Given the description of an element on the screen output the (x, y) to click on. 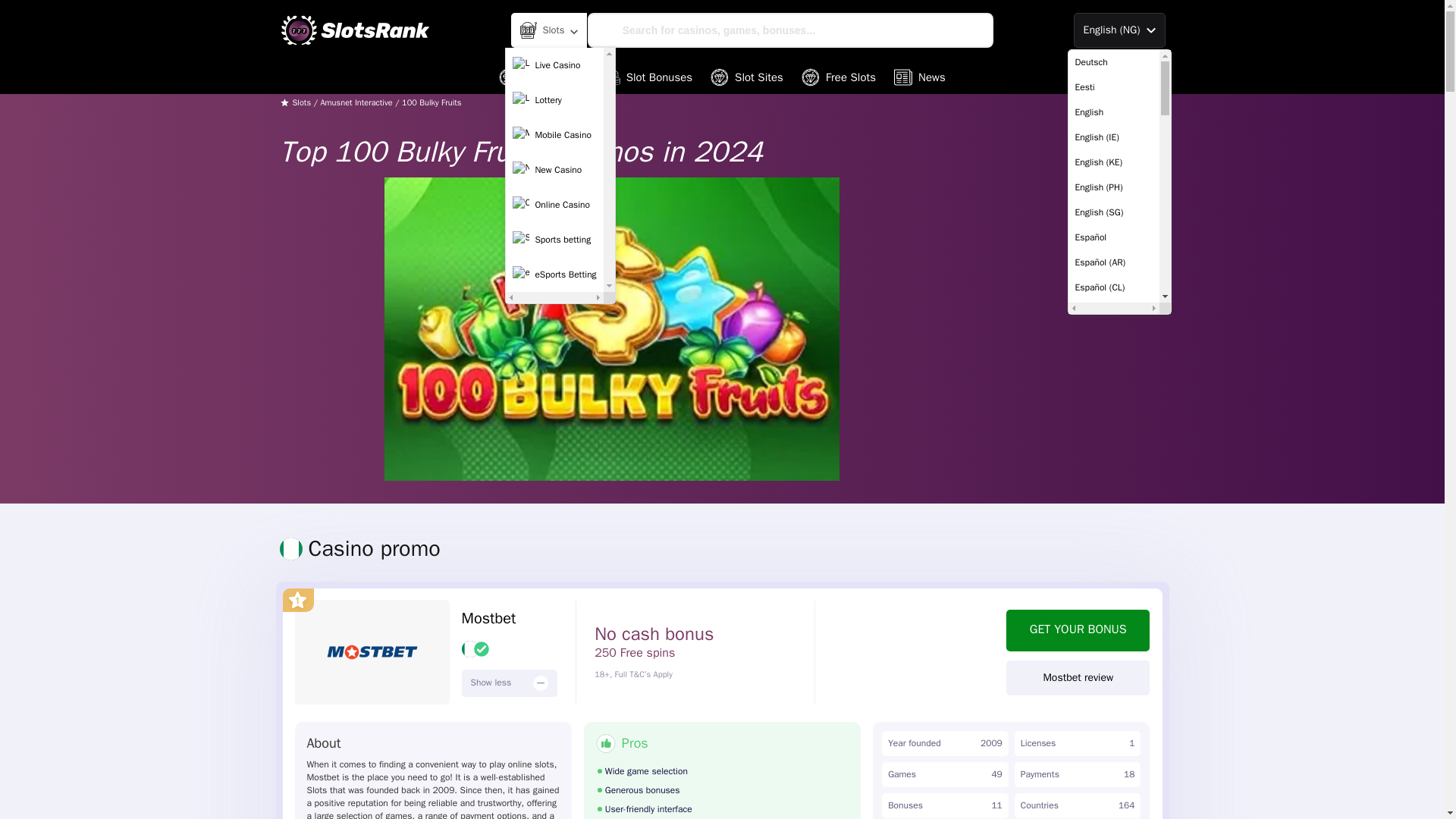
Nederlands (1113, 562)
Deutsch (1113, 62)
Sports betting (553, 239)
Eesti (1113, 87)
Live Casino (553, 64)
English (1113, 112)
Magyar (1113, 512)
Mobile Casino (553, 134)
New Casino (553, 169)
Online Casino (553, 204)
